Given the description of an element on the screen output the (x, y) to click on. 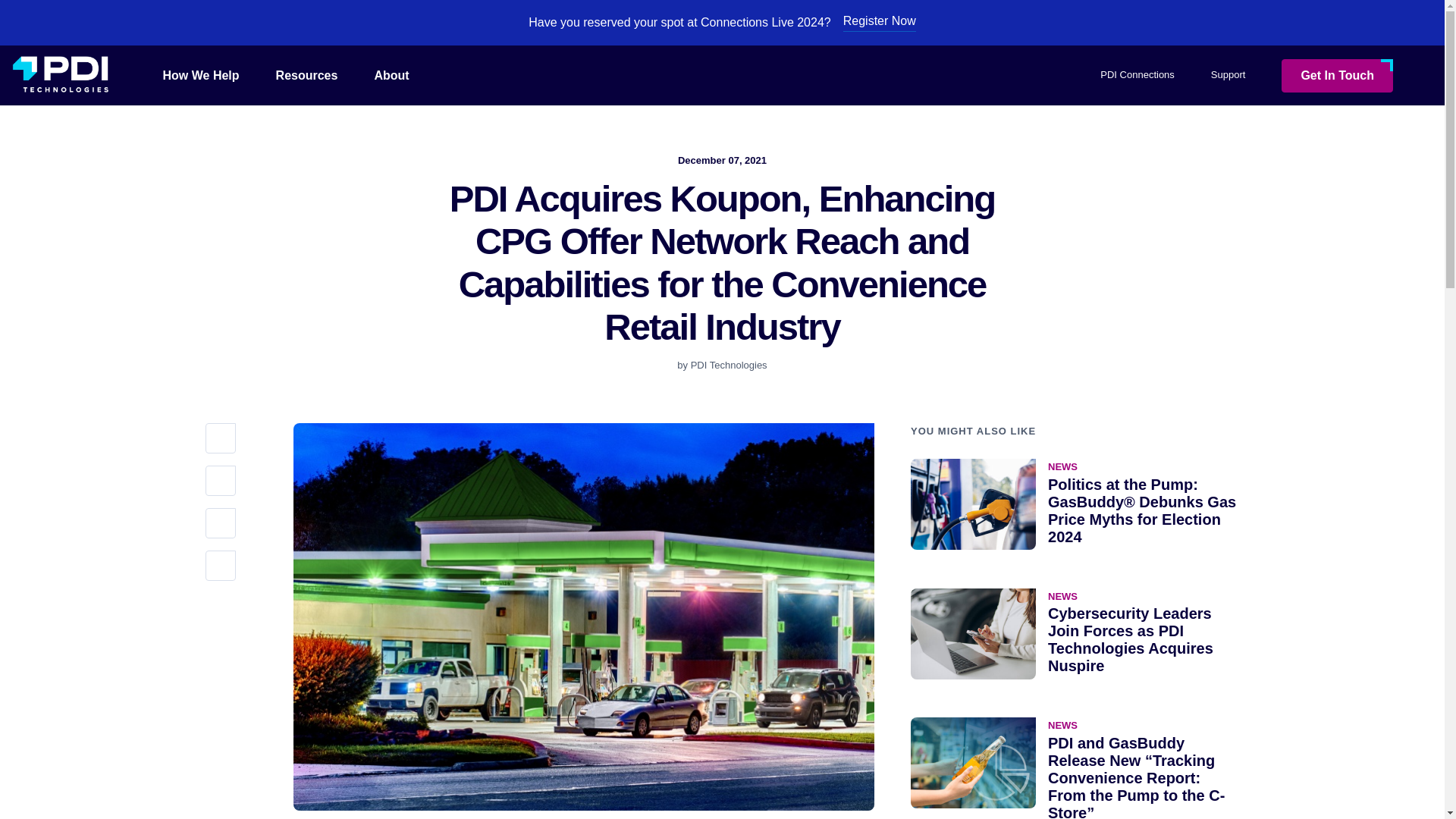
How We Help (201, 74)
Register Now (879, 22)
